Given the description of an element on the screen output the (x, y) to click on. 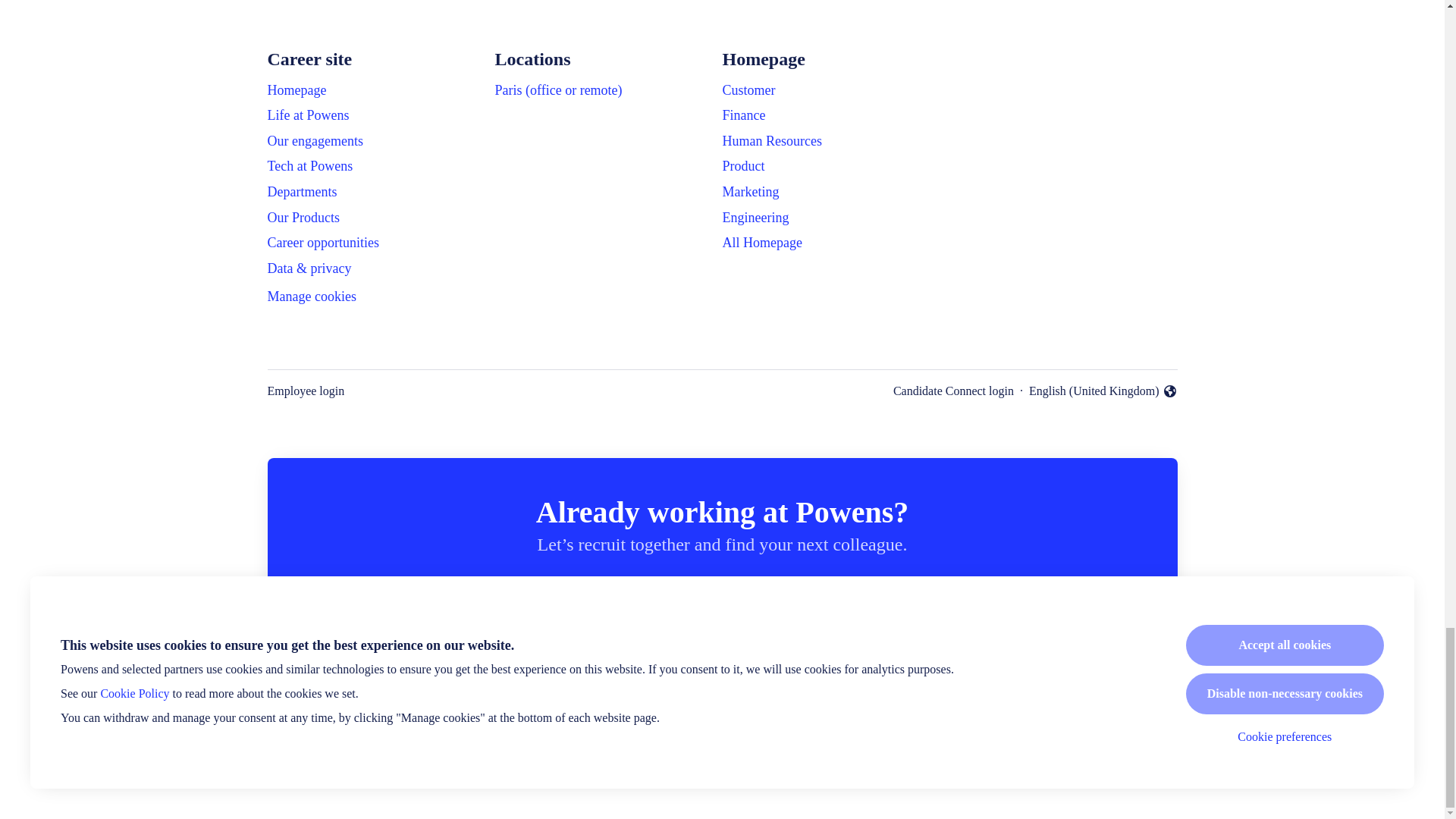
All Homepage (762, 242)
Log in (887, 599)
Homepage (296, 89)
Marketing (750, 191)
Change language (1103, 391)
Human Resources (771, 140)
Departments (301, 191)
Manage cookies (310, 296)
Career opportunities (322, 242)
Product (743, 165)
